Given the description of an element on the screen output the (x, y) to click on. 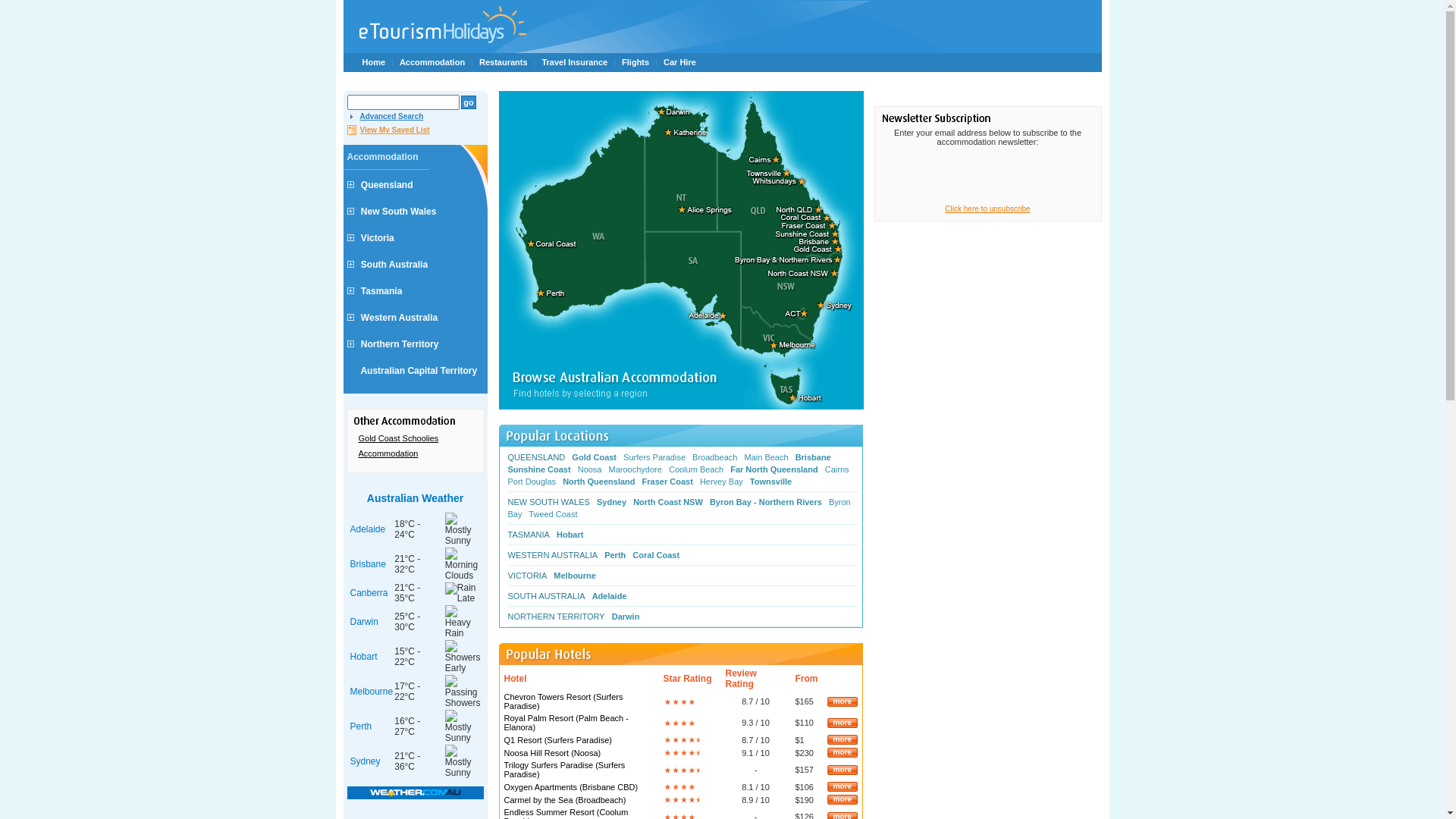
Chevron Towers Resort (Surfers Paradise) Element type: text (562, 701)
Trilogy Surfers Paradise (Surfers Paradise) Element type: text (563, 769)
Accommodation Element type: text (431, 62)
NORTHERN TERRITORY Element type: text (558, 616)
Far North Queensland Element type: text (776, 468)
Fraser Coast Element type: text (669, 481)
Adelaide Element type: text (367, 529)
Coral Coast Element type: text (658, 554)
Western Australia Element type: text (398, 317)
Surfers Paradise Element type: text (656, 456)
Perth Element type: text (617, 554)
Flights Element type: text (635, 62)
Darwin Element type: text (364, 621)
Hervey Bay Element type: text (723, 481)
Q1 Resort (Surfers Paradise) Element type: text (557, 739)
Perth Element type: text (361, 726)
Tasmania Element type: text (380, 290)
Noosa Element type: text (591, 468)
South Australia Element type: text (393, 264)
Advanced Search Element type: text (385, 116)
Hobart Element type: text (363, 656)
Canberra Element type: text (369, 592)
Brisbane Element type: text (815, 456)
Gold Coast Element type: text (596, 456)
Sydney Element type: text (613, 501)
Queensland Element type: text (386, 184)
New South Wales Element type: text (398, 211)
QUEENSLAND Element type: text (539, 456)
Restaurants Element type: text (503, 62)
Click here to unsubscribe Element type: text (986, 208)
Gold Coast Schoolies Accommodation Element type: text (414, 445)
Melbourne Element type: text (576, 575)
TASMANIA Element type: text (531, 534)
Townsville Element type: text (772, 481)
North Coast NSW Element type: text (670, 501)
Australian Capital Territory Element type: text (418, 370)
go Element type: text (468, 102)
Victoria Element type: text (377, 237)
Main Beach Element type: text (767, 456)
Northern Territory Element type: text (399, 343)
Noosa Hill Resort (Noosa) Element type: text (551, 751)
Byron Bay - Northern Rivers Element type: text (767, 501)
Sydney Element type: text (365, 761)
Cairns Element type: text (839, 468)
Carmel by the Sea (Broadbeach) Element type: text (564, 798)
Darwin Element type: text (627, 616)
VICTORIA Element type: text (530, 575)
View My Saved List Element type: text (388, 129)
NEW SOUTH WALES Element type: text (551, 501)
Maroochydore Element type: text (637, 468)
Car Hire Element type: text (679, 62)
Oxygen Apartments (Brisbane CBD) Element type: text (570, 786)
Travel Insurance Element type: text (574, 62)
North Queensland Element type: text (600, 481)
Melbourne Element type: text (371, 691)
Sunshine Coast Element type: text (541, 468)
WESTERN AUSTRALIA Element type: text (555, 554)
SOUTH AUSTRALIA Element type: text (548, 595)
Brisbane Element type: text (367, 563)
Coolum Beach Element type: text (698, 468)
Hobart Element type: text (571, 534)
Adelaide Element type: text (611, 595)
Home Element type: text (374, 62)
Royal Palm Resort (Palm Beach - Elanora) Element type: text (565, 722)
Byron Bay Element type: text (679, 507)
Tweed Coast Element type: text (554, 513)
Broadbeach Element type: text (716, 456)
Port Douglas Element type: text (534, 481)
